Given the description of an element on the screen output the (x, y) to click on. 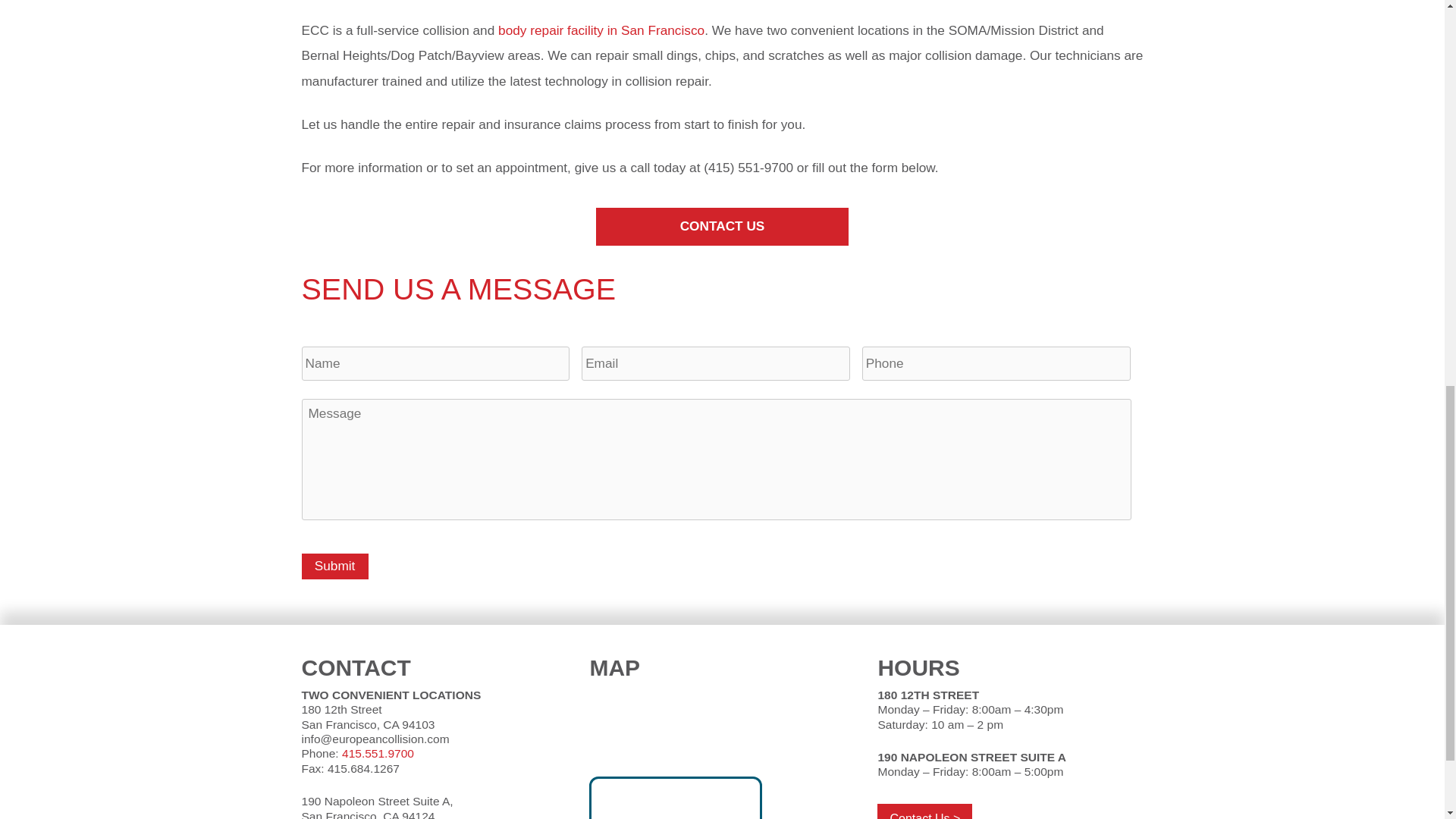
415.551.9700 (377, 753)
body repair facility in San Francisco (600, 29)
Submit (334, 566)
CONTACT US (721, 227)
Submit (334, 566)
